Given the description of an element on the screen output the (x, y) to click on. 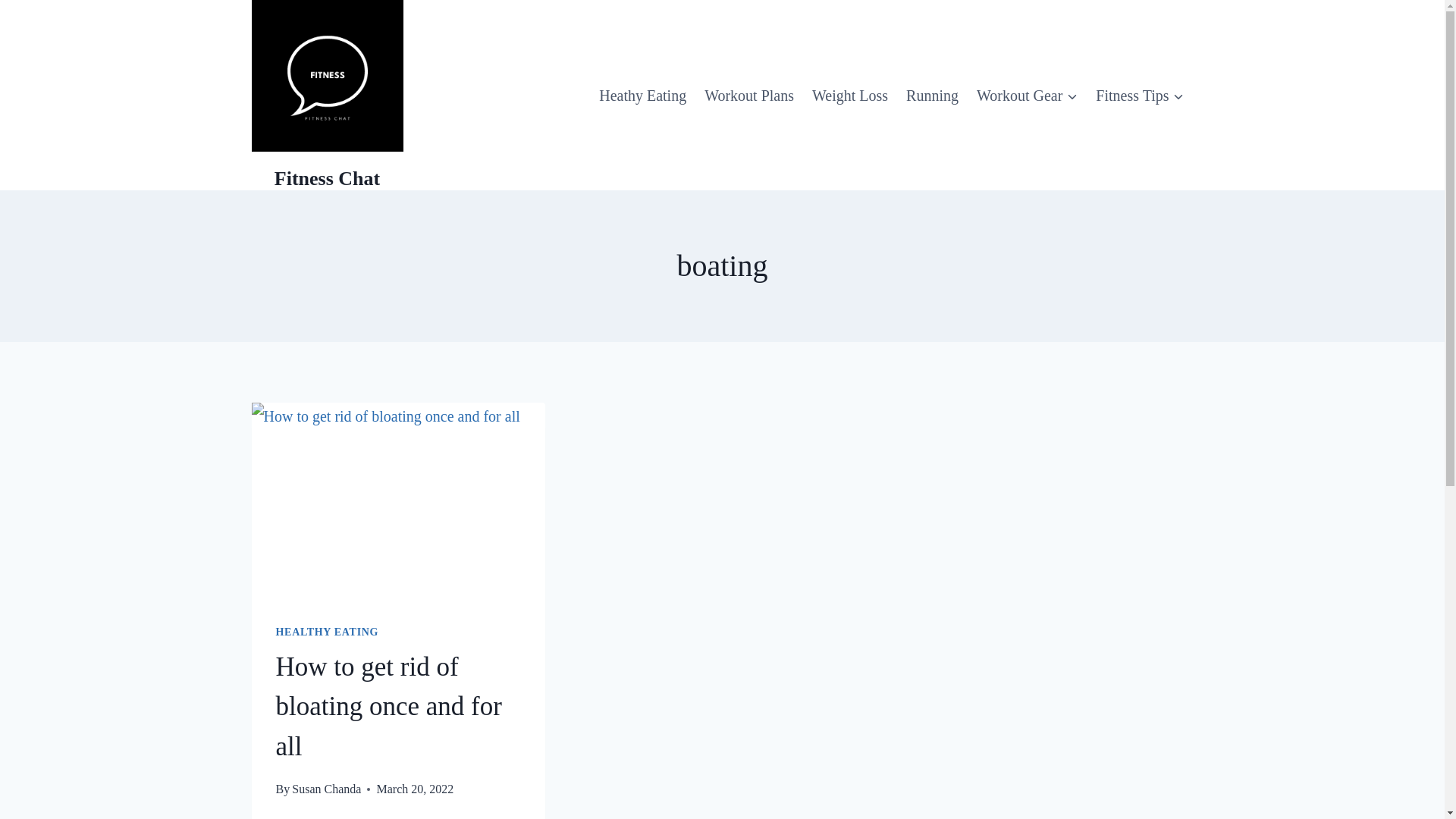
Fitness Tips (1139, 94)
Heathy Eating (642, 94)
Weight Loss (849, 94)
Workout Plans (749, 94)
How to get rid of bloating once and for all (389, 706)
HEALTHY EATING (327, 632)
Workout Gear (1027, 94)
Running (932, 94)
Susan Chanda (326, 788)
